Given the description of an element on the screen output the (x, y) to click on. 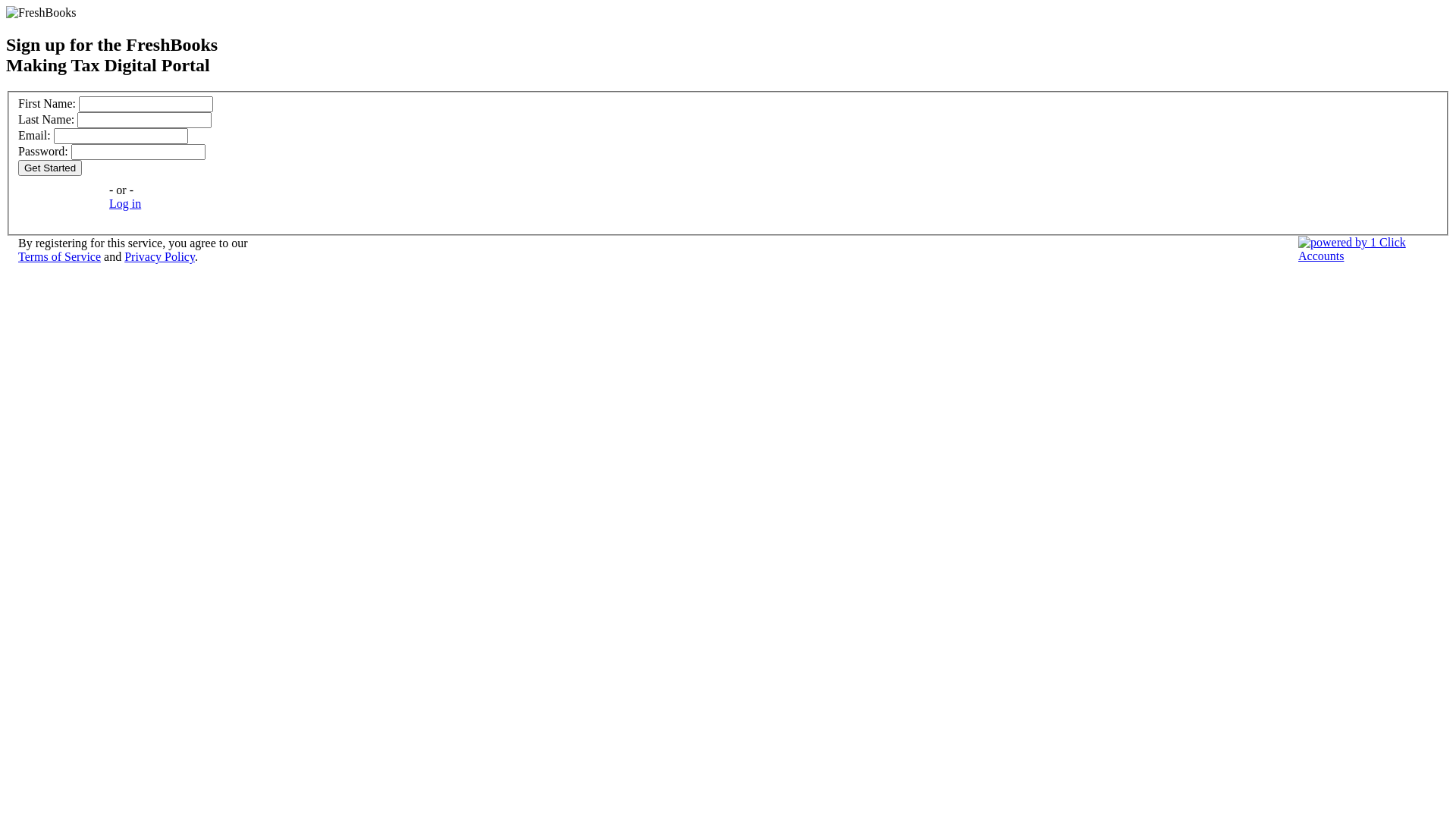
Log in Element type: text (125, 203)
Terms of Service Element type: text (59, 256)
Get Started Element type: text (49, 167)
Privacy Policy Element type: text (159, 256)
